Given the description of an element on the screen output the (x, y) to click on. 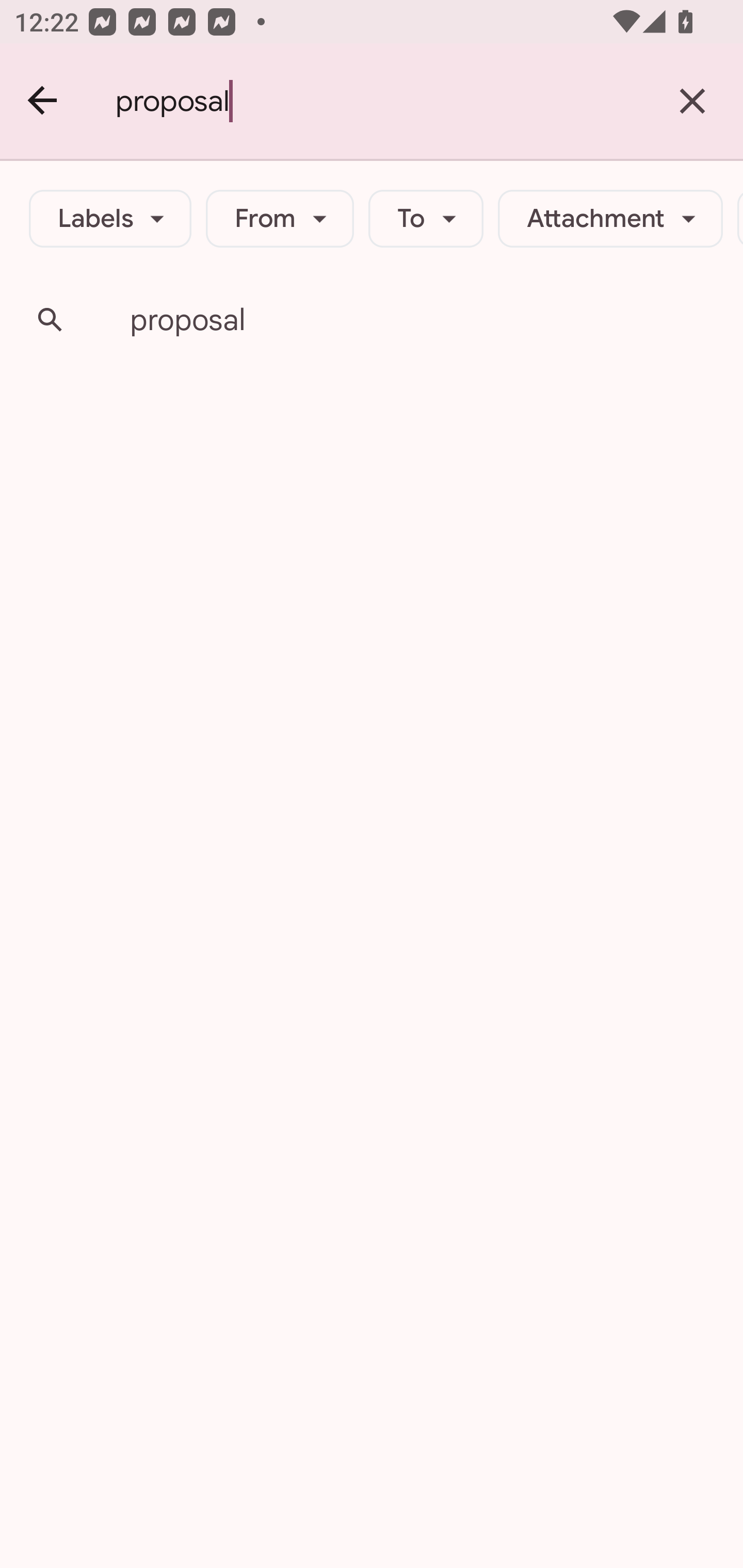
Back (43, 101)
proposal (378, 101)
Clear text (692, 101)
Labels (109, 218)
From (279, 218)
To (425, 218)
Attachment (609, 218)
proposal Suggestion: proposal (371, 319)
